Given the description of an element on the screen output the (x, y) to click on. 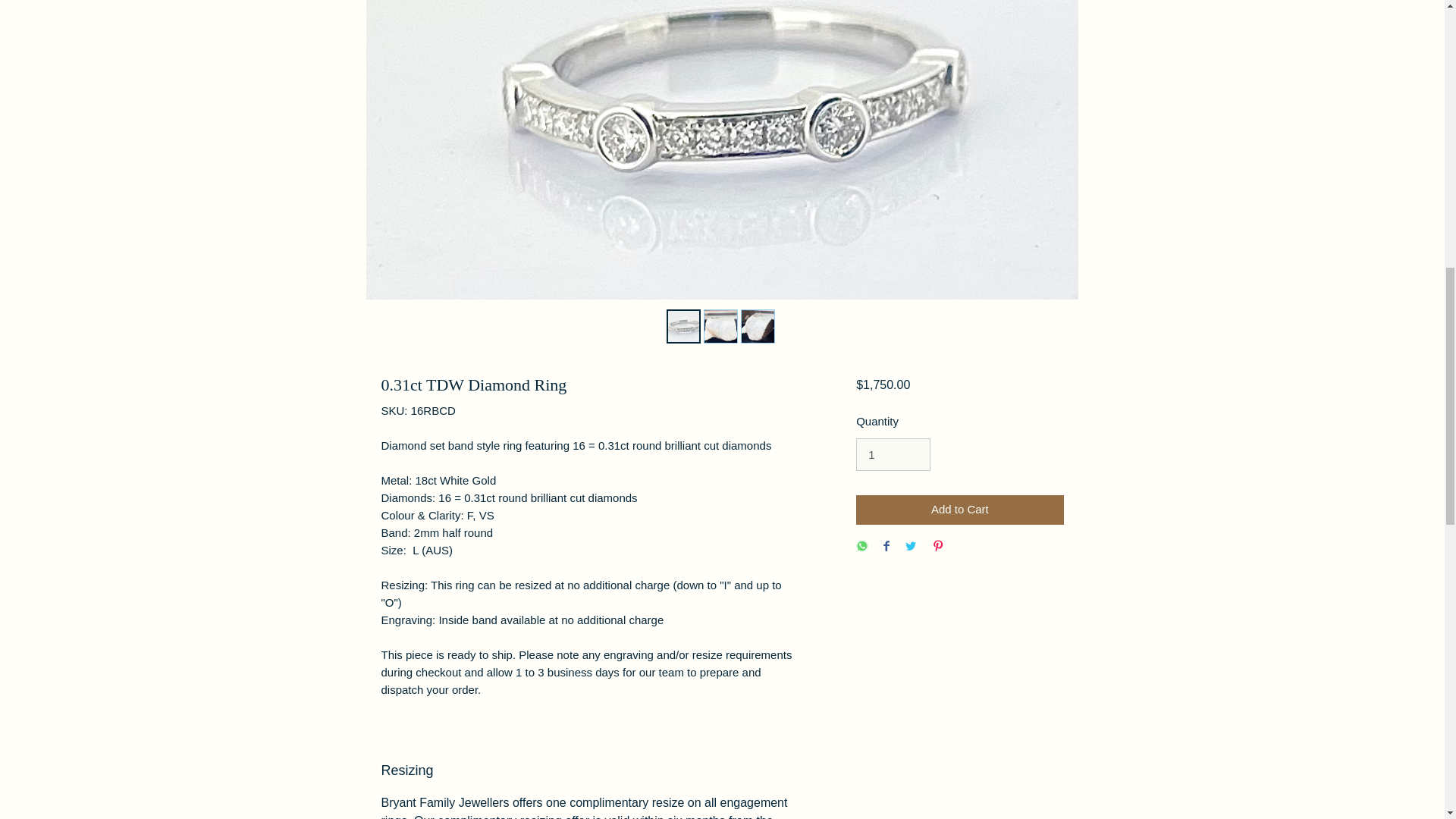
1 (893, 454)
Add to Cart (959, 509)
